Given the description of an element on the screen output the (x, y) to click on. 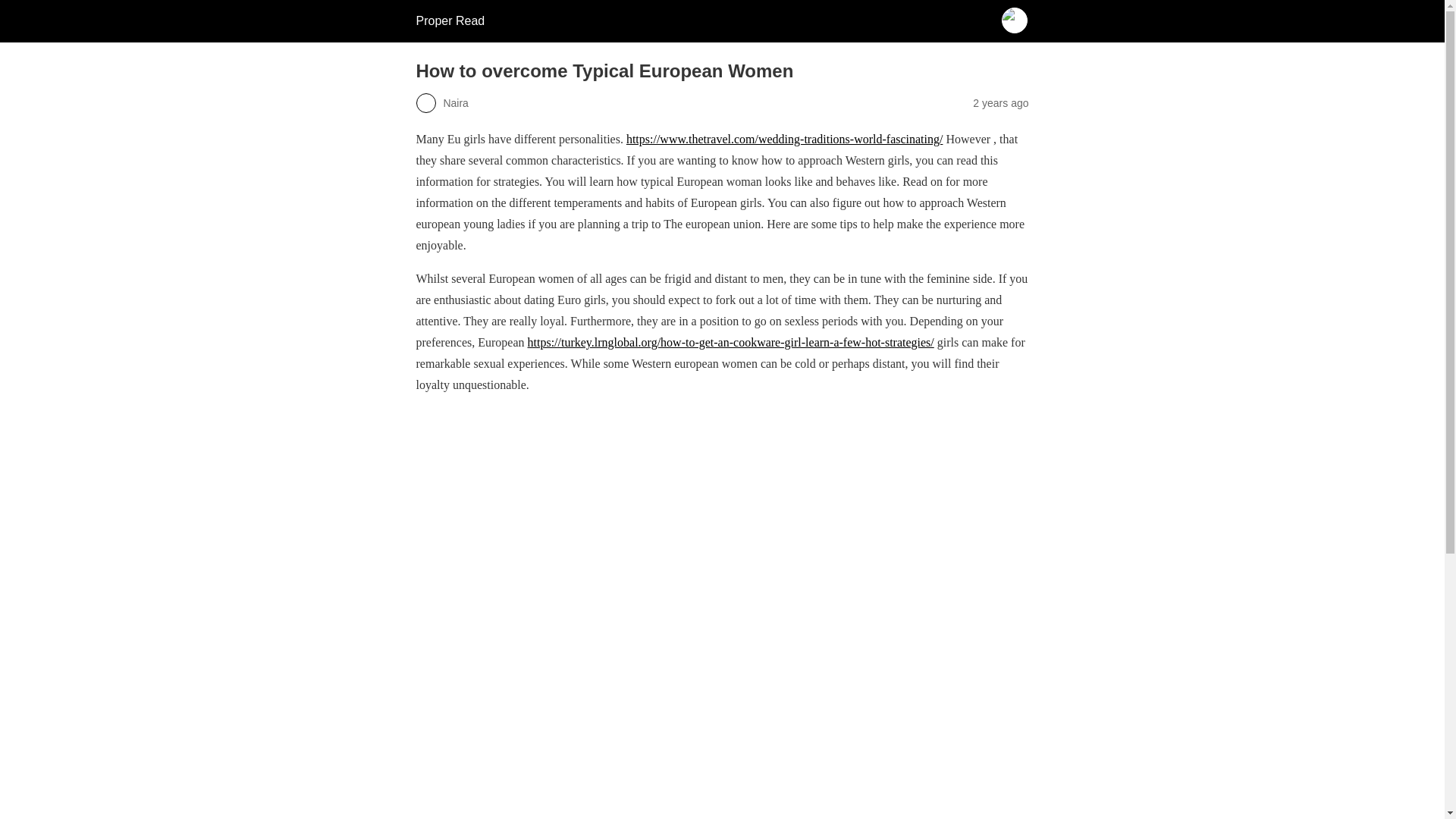
Proper Read (449, 20)
